Given the description of an element on the screen output the (x, y) to click on. 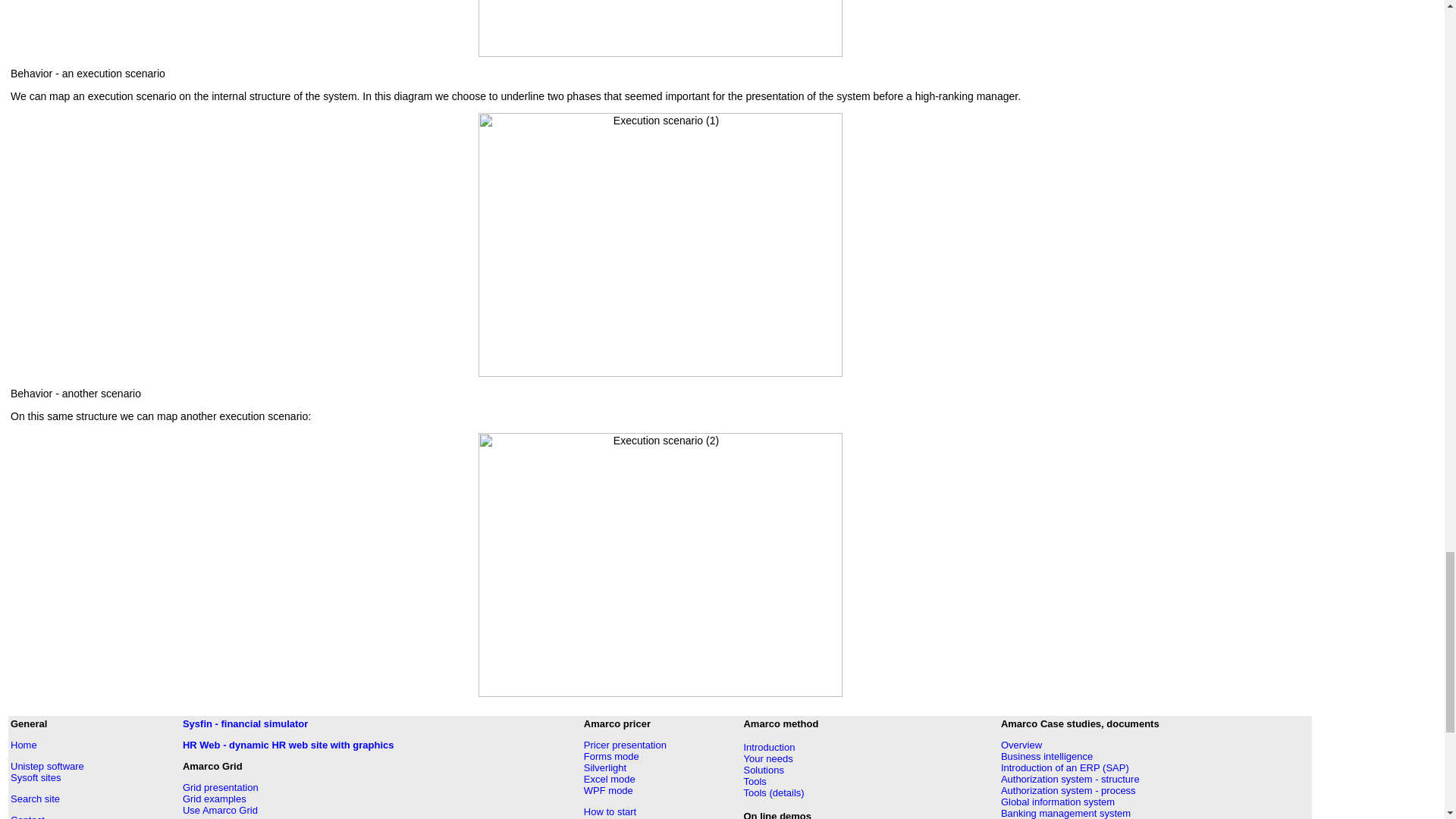
Grid examples (214, 798)
Sysoft sites (35, 777)
Sysfin - financial simulator (245, 723)
Grid presentation (221, 787)
Search site (34, 798)
Contact (27, 816)
HR Web - dynamic HR web site with graphics (288, 745)
Behavior - an execution scenario (87, 73)
Unistep software (47, 766)
Home (23, 745)
Behavior - another scenario (75, 393)
